Given the description of an element on the screen output the (x, y) to click on. 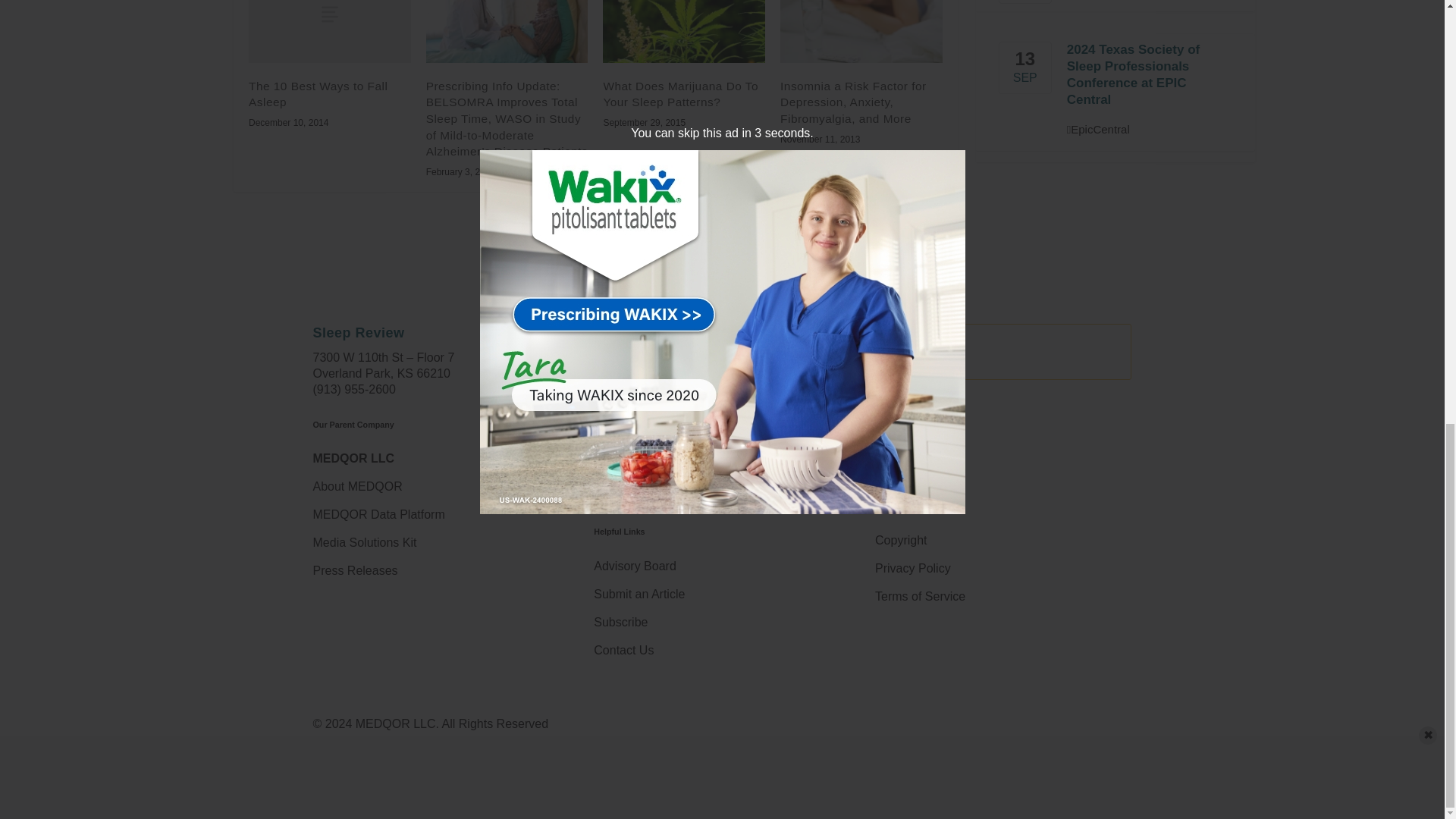
Search (906, 365)
Search (906, 365)
The 10 Best Ways to Fall Asleep (329, 31)
